Given the description of an element on the screen output the (x, y) to click on. 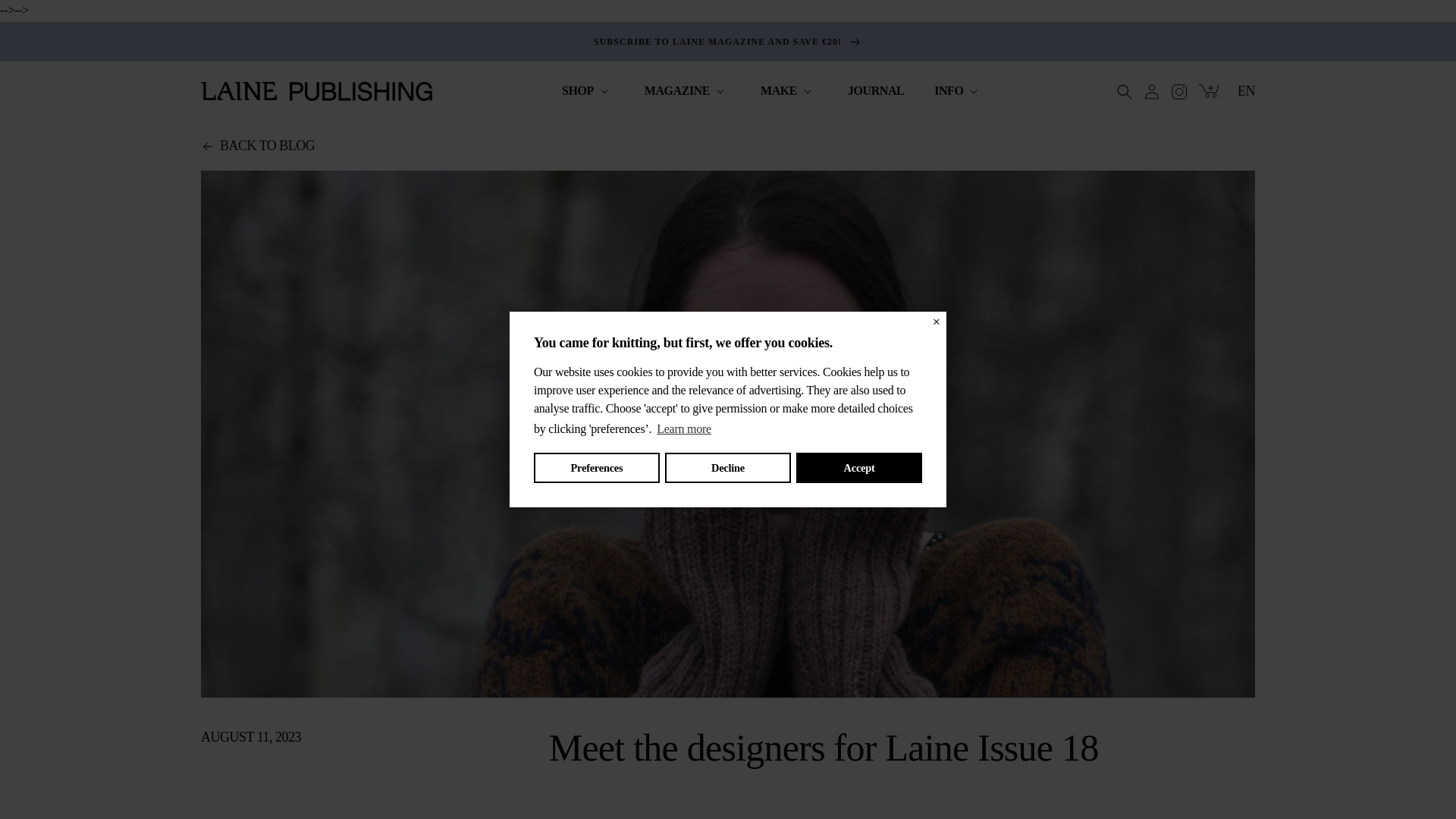
Learn more (683, 428)
Decline (727, 467)
Skip to content (45, 17)
Accept (858, 467)
Preferences (596, 467)
